Given the description of an element on the screen output the (x, y) to click on. 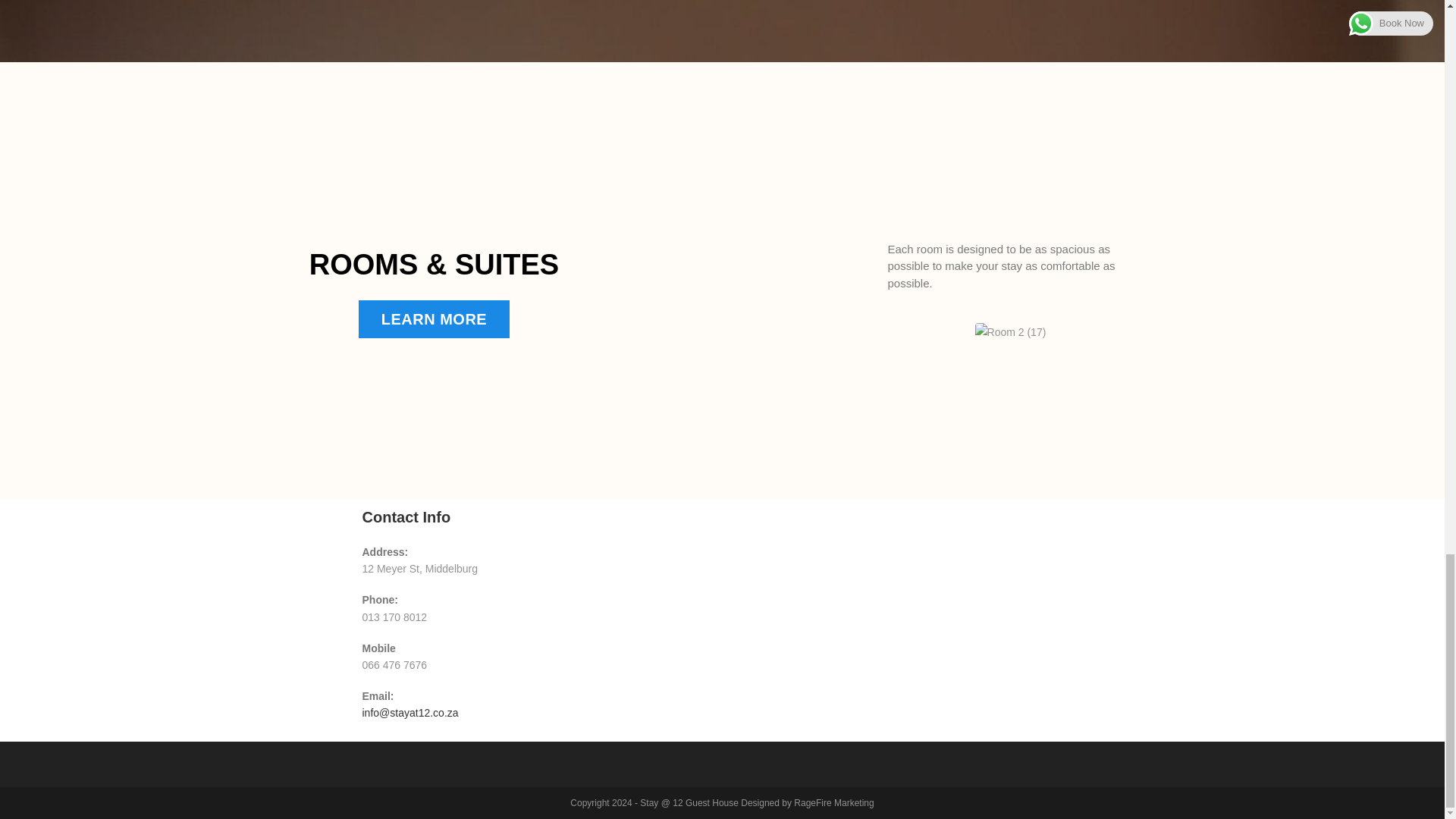
LEARN MORE (433, 319)
